Given the description of an element on the screen output the (x, y) to click on. 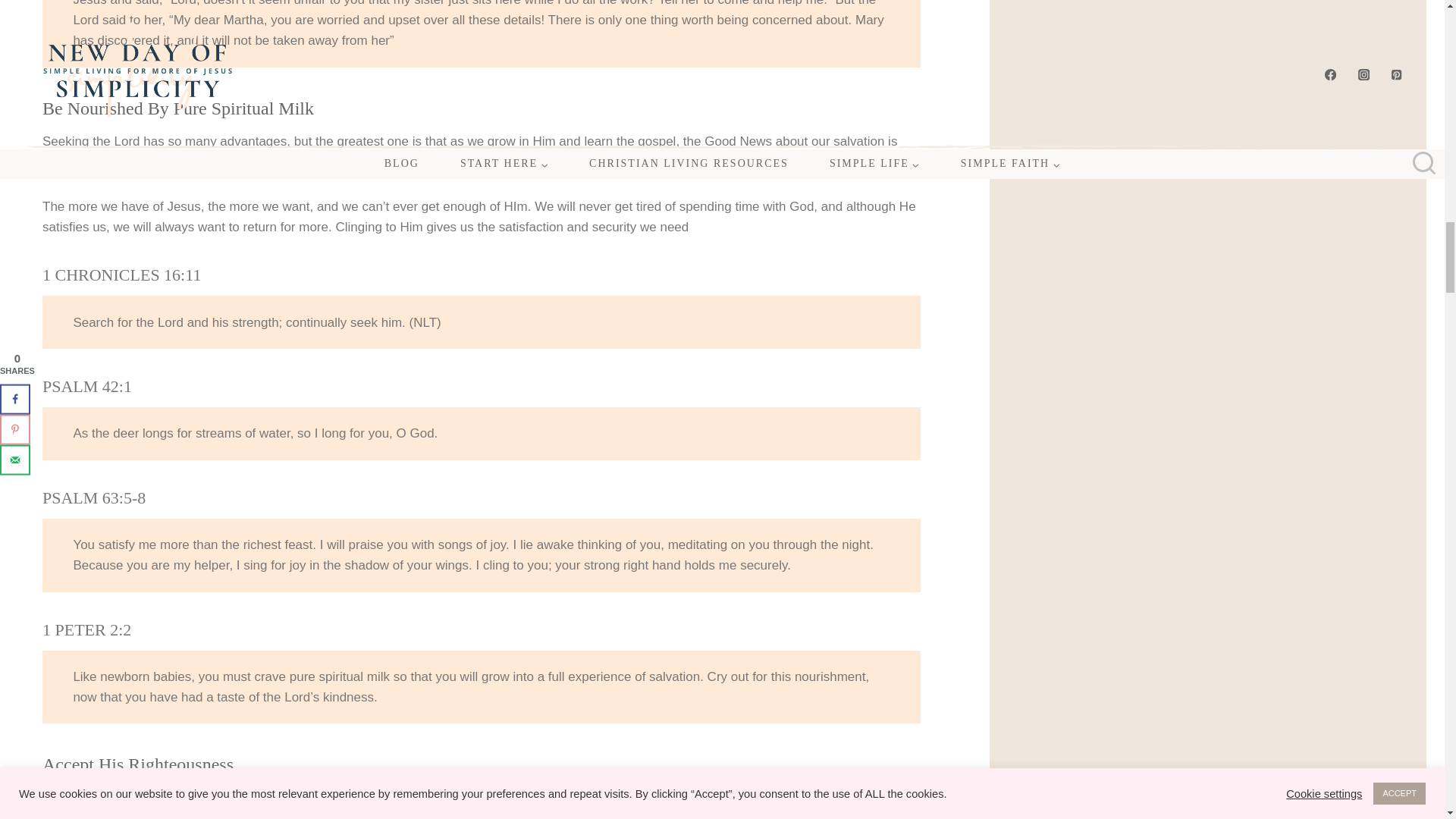
1 PETER 2:2 (86, 629)
PSALM 42:1 (87, 385)
1 CHRONICLES 16:11 (121, 274)
PSALM 63:5-8 (93, 497)
